Given the description of an element on the screen output the (x, y) to click on. 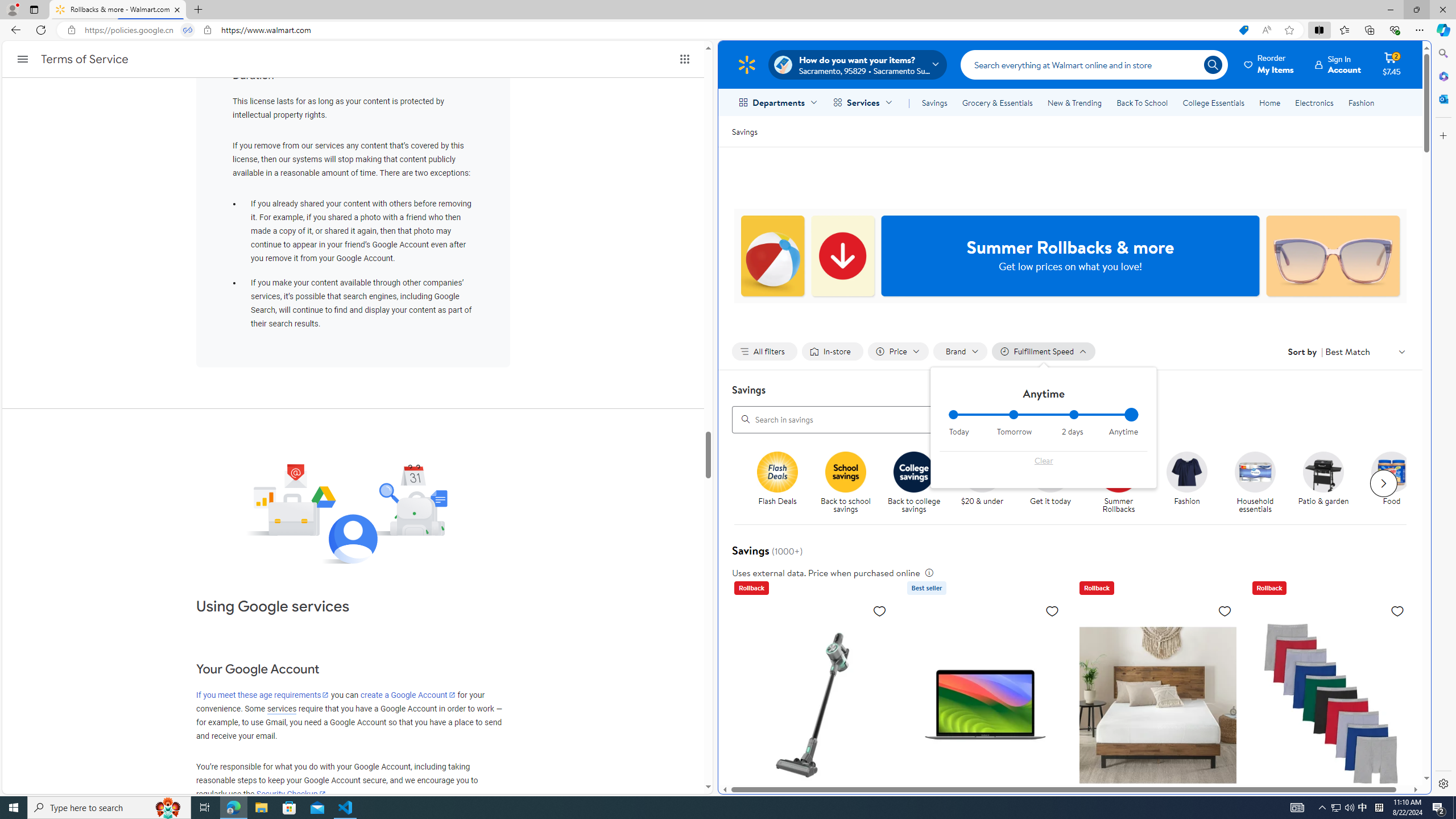
Summer Rollbacks (1123, 483)
$20 and under (982, 471)
Tabs in split screen (187, 29)
College Essentials (1213, 102)
Rollbacks & more - Walmart.com (117, 9)
Back to School savings Back to school savings (845, 483)
Filter by Price not applied, activate to change (897, 351)
Zinus Spa Sensations Serenity 8" Memory Foam Mattress, Full (1157, 704)
Close Search pane (1442, 53)
New & Trending (1075, 102)
